Given the description of an element on the screen output the (x, y) to click on. 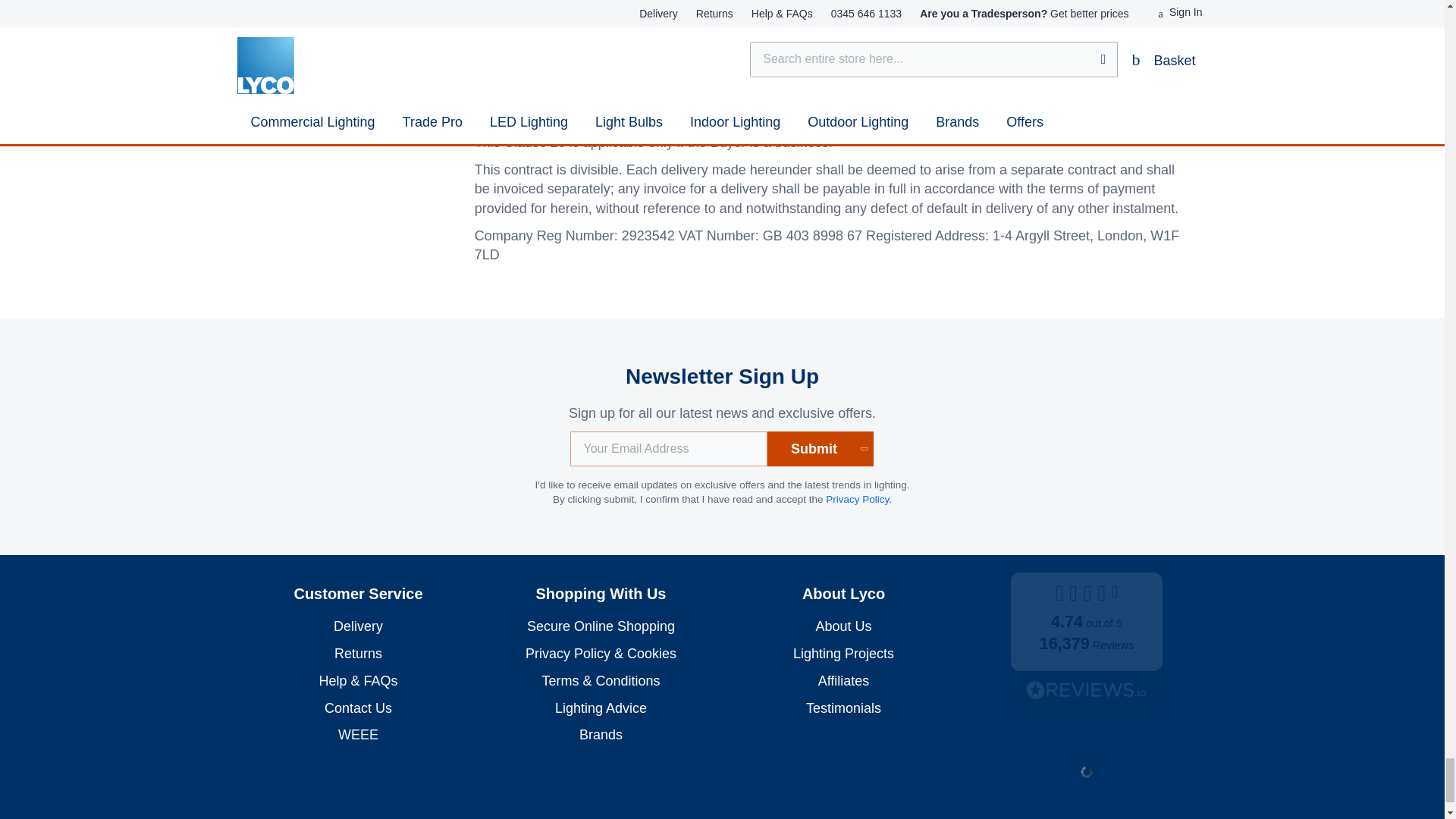
Delivery (357, 626)
Subscribe (820, 448)
